Given the description of an element on the screen output the (x, y) to click on. 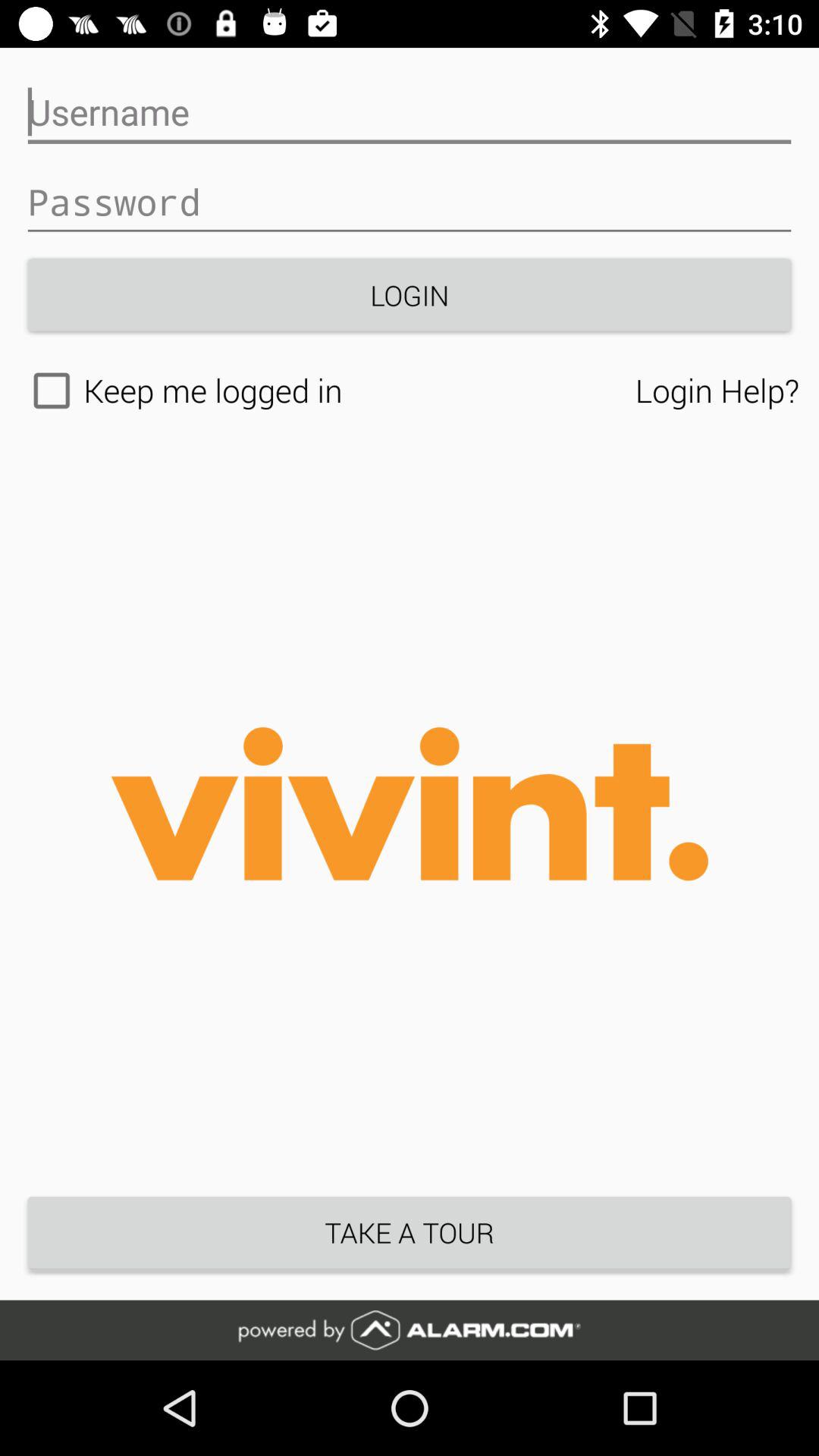
flip to login help? icon (717, 390)
